Given the description of an element on the screen output the (x, y) to click on. 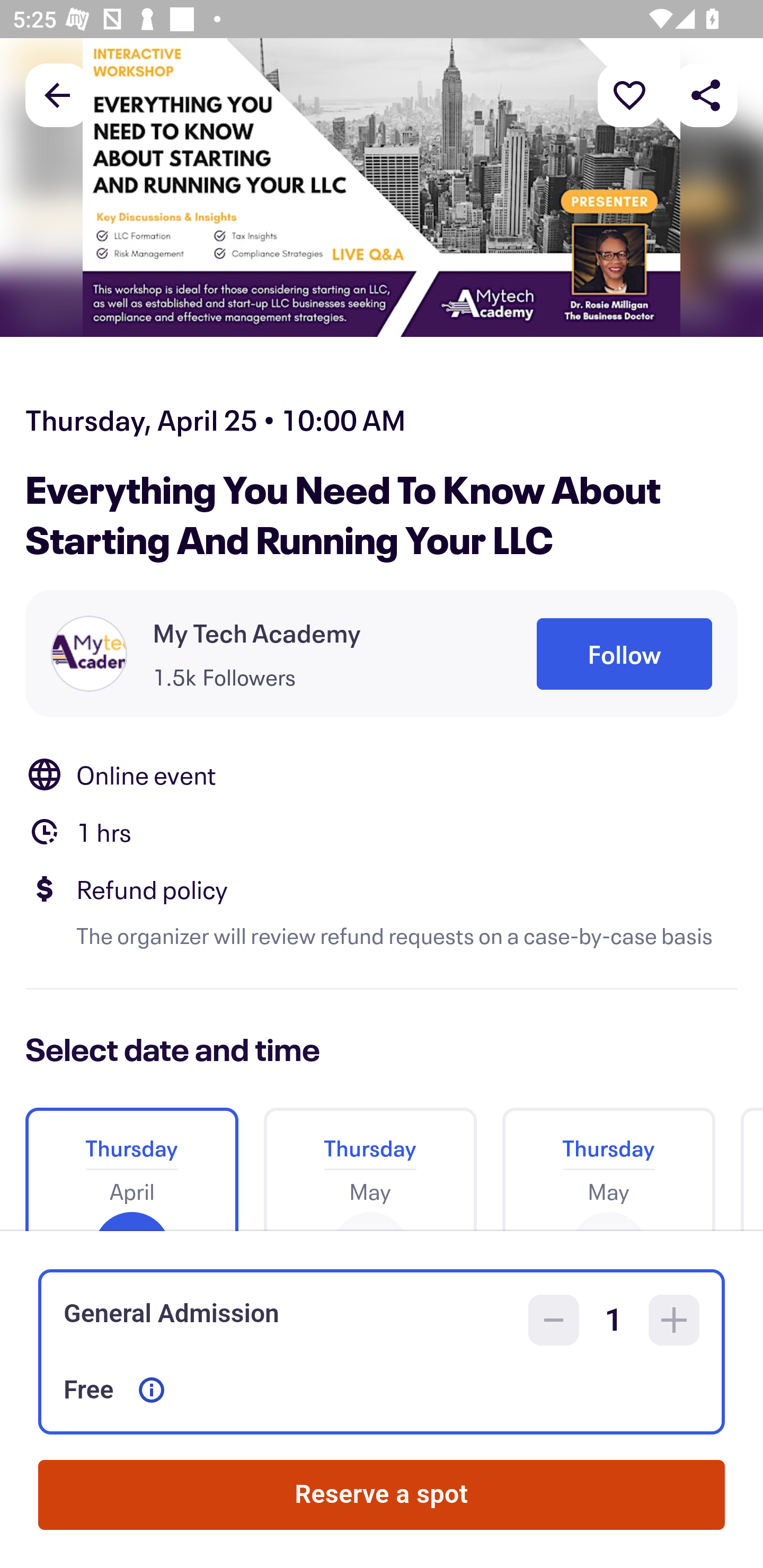
Back (57, 94)
More (629, 94)
Share (705, 94)
My Tech Academy (256, 632)
Organizer profile picture (89, 653)
Follow (623, 654)
Location Online event (381, 774)
Thursday April 25 (131, 1162)
Thursday May 2 (370, 1162)
Thursday May 9 (608, 1162)
